Given the description of an element on the screen output the (x, y) to click on. 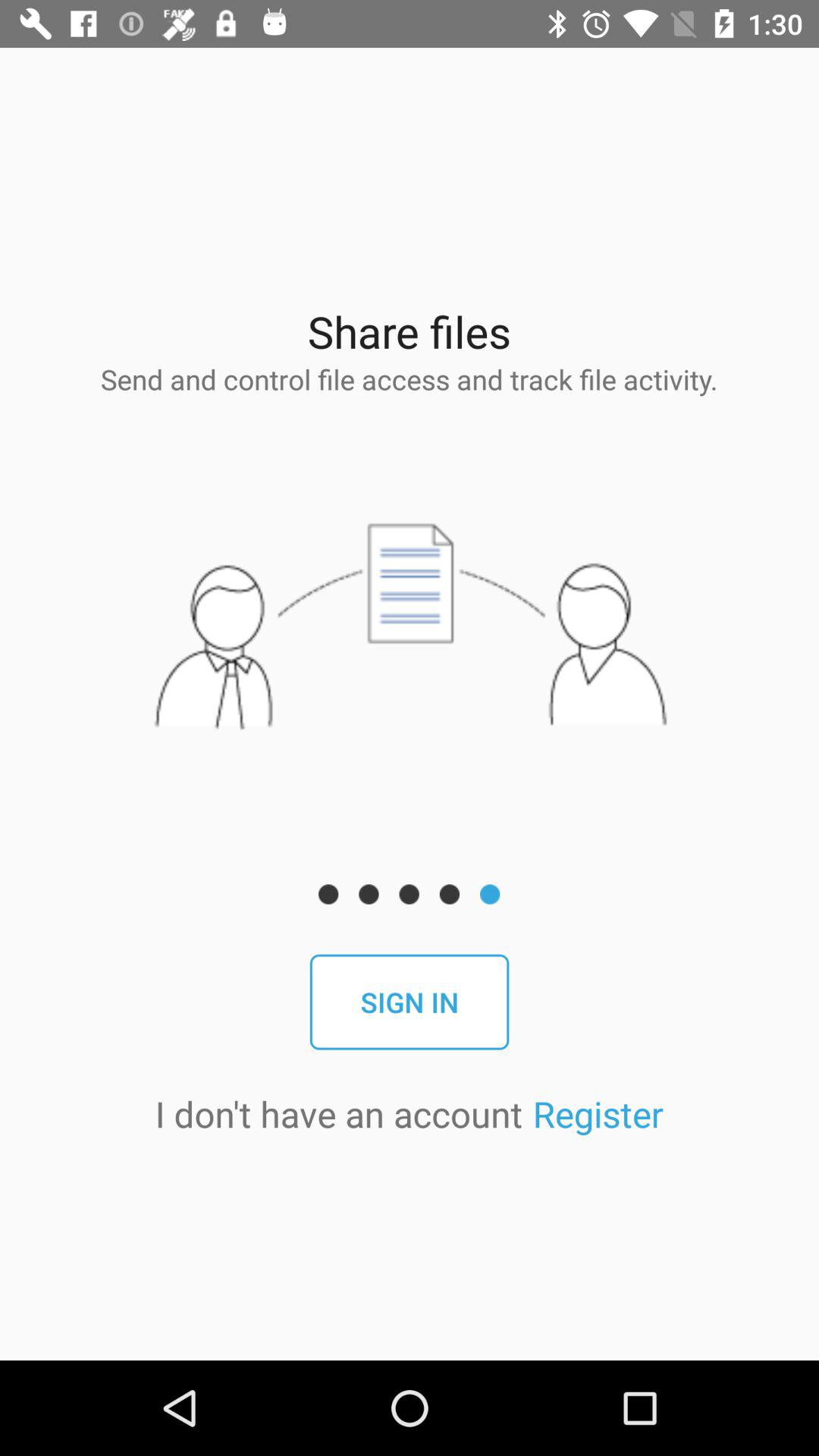
press the app at the bottom right corner (597, 1113)
